Given the description of an element on the screen output the (x, y) to click on. 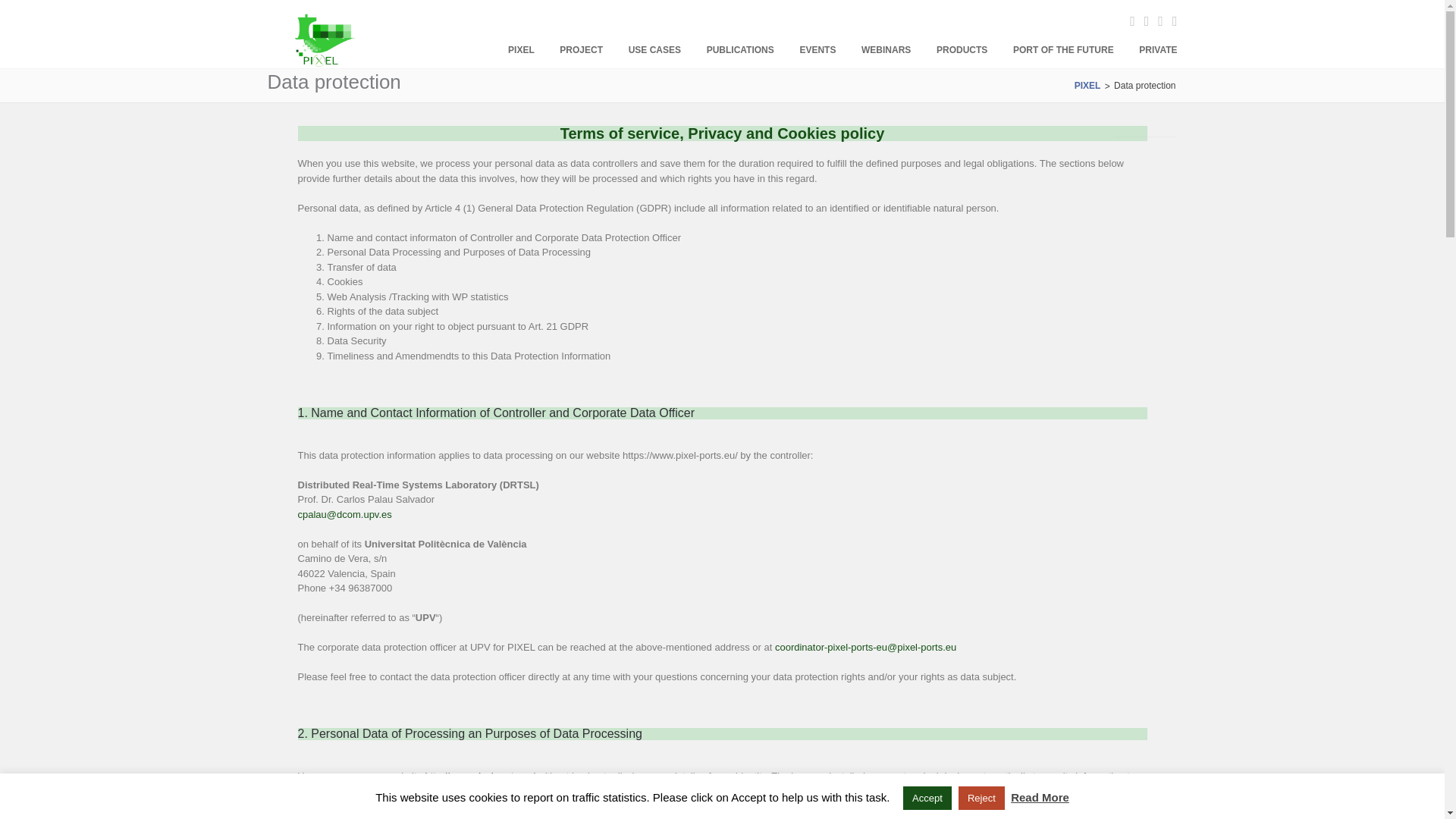
PIXEL (326, 64)
WEBINARS (885, 50)
USE CASES (655, 50)
PIXEL (1087, 85)
PRIVATE (1151, 50)
View our YouTube Channel (1155, 20)
Find Us on LinkedIn (1170, 20)
PROJECT (581, 50)
Follow Us on Twitter (1142, 20)
Go to PIXEL. (1087, 85)
PIXEL (521, 50)
PUBLICATIONS (740, 50)
EVENTS (817, 50)
PRODUCTS (961, 50)
PORT OF THE FUTURE (1063, 50)
